Given the description of an element on the screen output the (x, y) to click on. 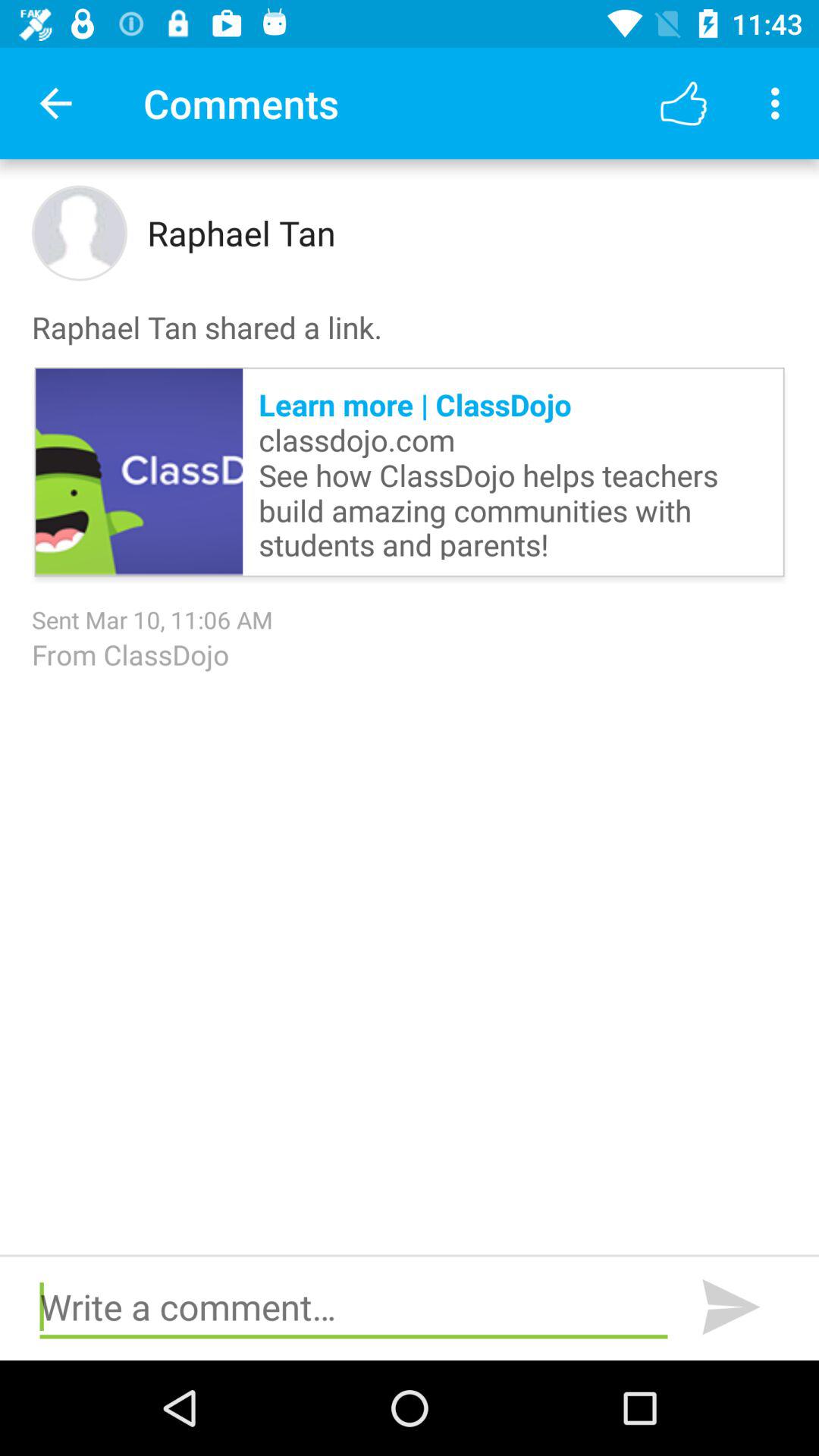
select item below raphael tan shared icon (138, 471)
